Given the description of an element on the screen output the (x, y) to click on. 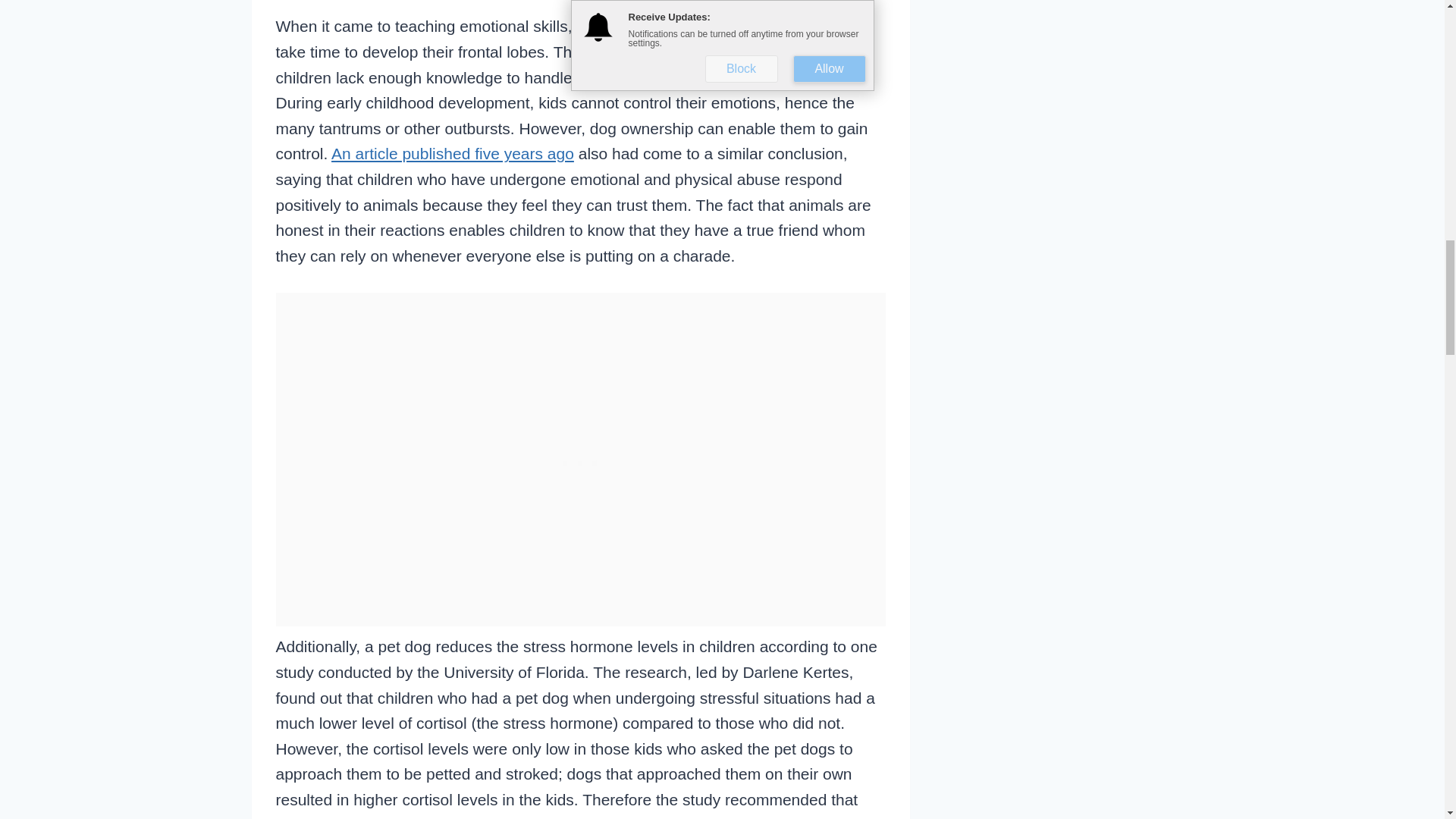
An article published five years ago (452, 153)
